Given the description of an element on the screen output the (x, y) to click on. 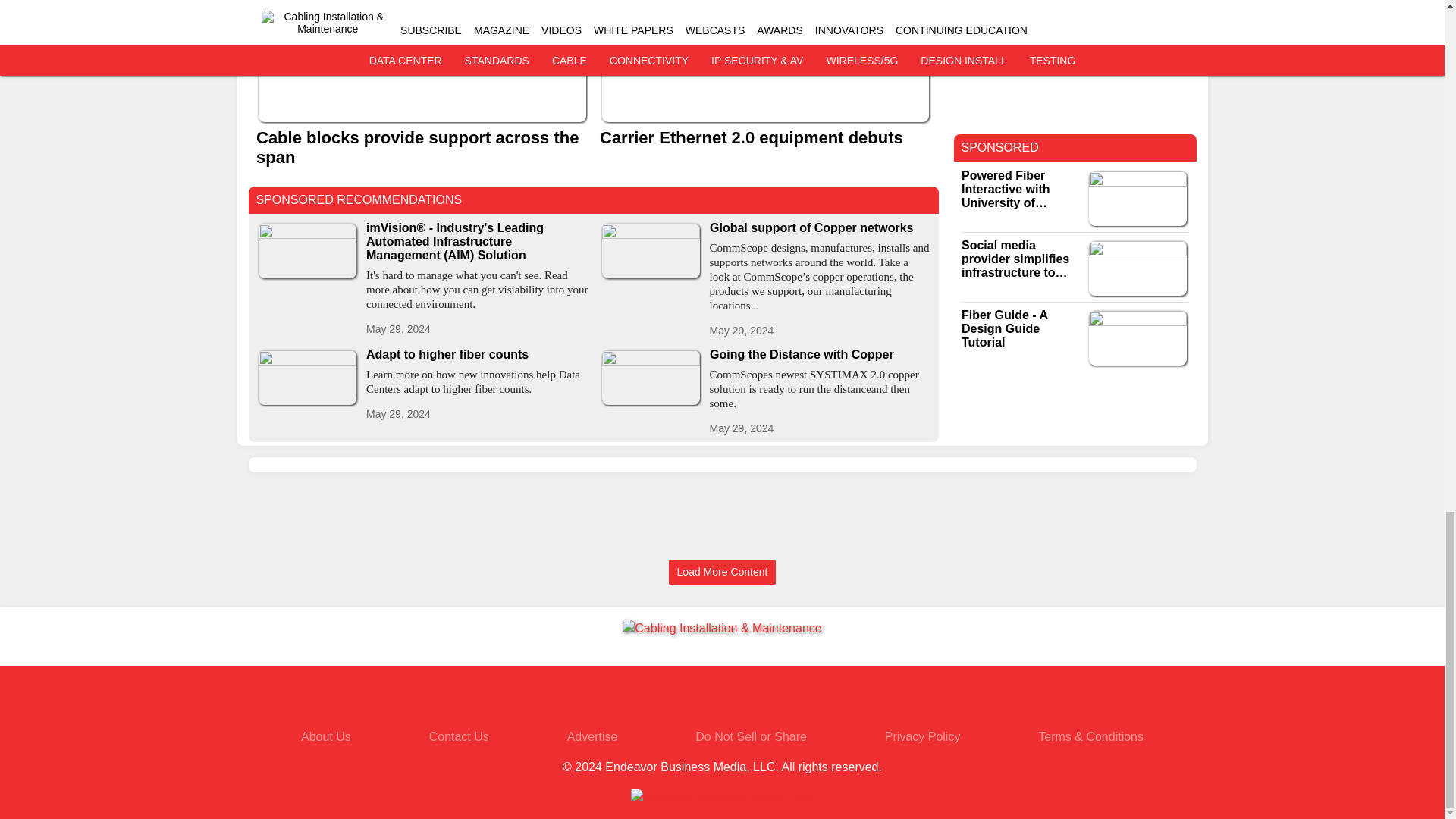
Adapt to higher fiber counts (476, 354)
Carrier Ethernet 2.0 equipment debuts (764, 137)
Cable blocks provide support across the span (422, 147)
Global support of Copper networks (820, 228)
